Given the description of an element on the screen output the (x, y) to click on. 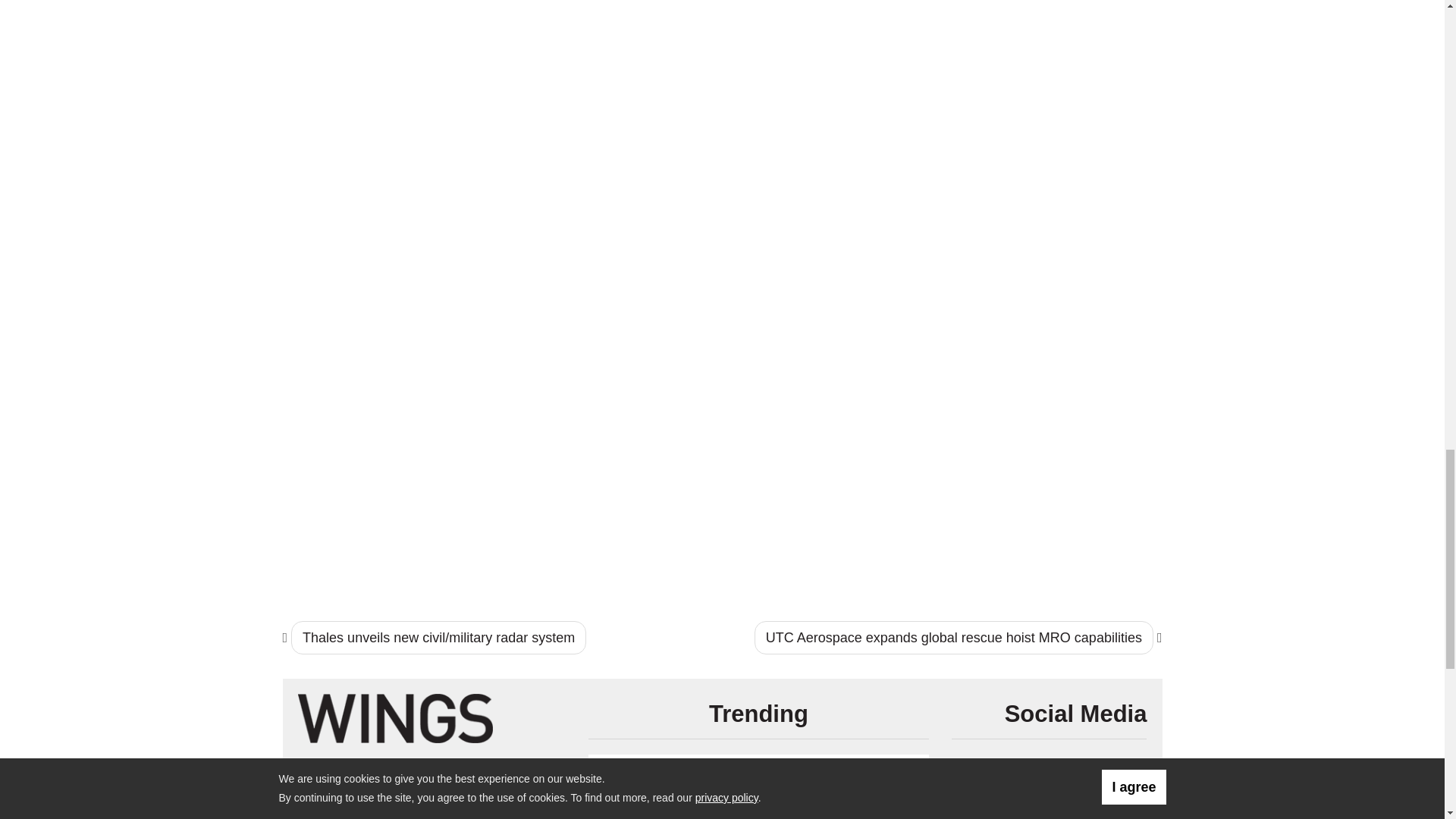
3rd party ad content (1060, 493)
3rd party ad content (1060, 99)
3rd party ad content (1060, 297)
Wings Magazine (395, 717)
